Given the description of an element on the screen output the (x, y) to click on. 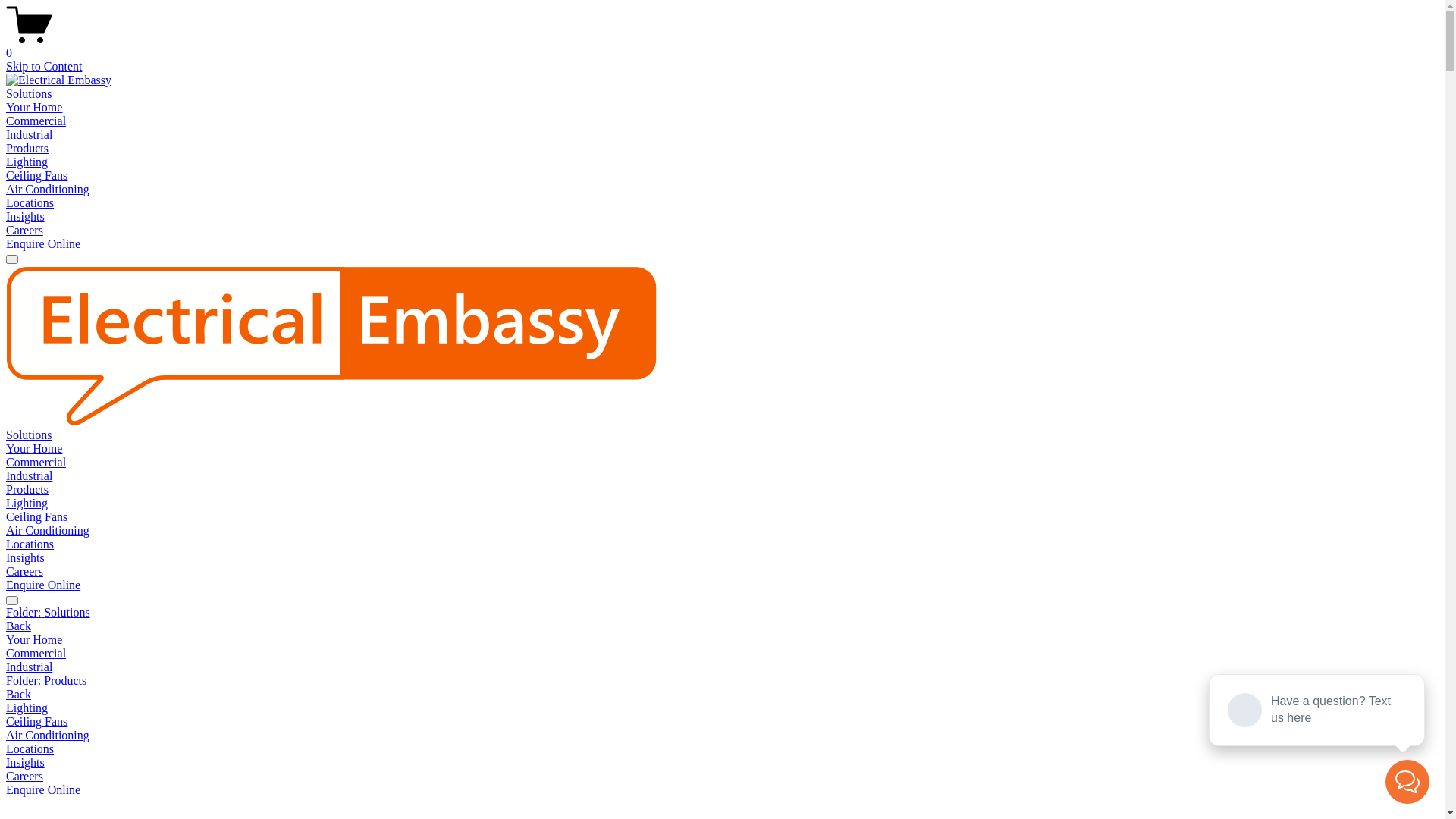
Commercial Element type: text (722, 653)
Commercial Element type: text (35, 461)
Ceiling Fans Element type: text (36, 516)
Air Conditioning Element type: text (47, 530)
Insights Element type: text (25, 557)
Lighting Element type: text (26, 161)
Enquire Online Element type: text (43, 584)
Careers Element type: text (24, 570)
Your Home Element type: text (34, 106)
Careers Element type: text (24, 775)
Commercial Element type: text (35, 120)
Enquire Online Element type: text (43, 243)
0 Element type: text (722, 45)
Ceiling Fans Element type: text (722, 721)
Your Home Element type: text (34, 448)
Industrial Element type: text (722, 667)
Ceiling Fans Element type: text (36, 175)
Locations Element type: text (722, 749)
Skip to Content Element type: text (43, 65)
Back Element type: text (18, 693)
Locations Element type: text (29, 202)
Air Conditioning Element type: text (47, 188)
Folder: Products Element type: text (722, 680)
Products Element type: text (27, 489)
Industrial Element type: text (29, 475)
Back Element type: text (18, 625)
Insights Element type: text (25, 216)
Solutions Element type: text (28, 434)
Lighting Element type: text (26, 502)
Folder: Solutions Element type: text (722, 612)
Solutions Element type: text (28, 93)
Insights Element type: text (722, 762)
Locations Element type: text (29, 543)
Lighting Element type: text (722, 708)
Your Home Element type: text (722, 639)
Products Element type: text (27, 147)
Industrial Element type: text (29, 134)
Enquire Online Element type: text (43, 789)
Careers Element type: text (24, 229)
Air Conditioning Element type: text (722, 735)
